Given the description of an element on the screen output the (x, y) to click on. 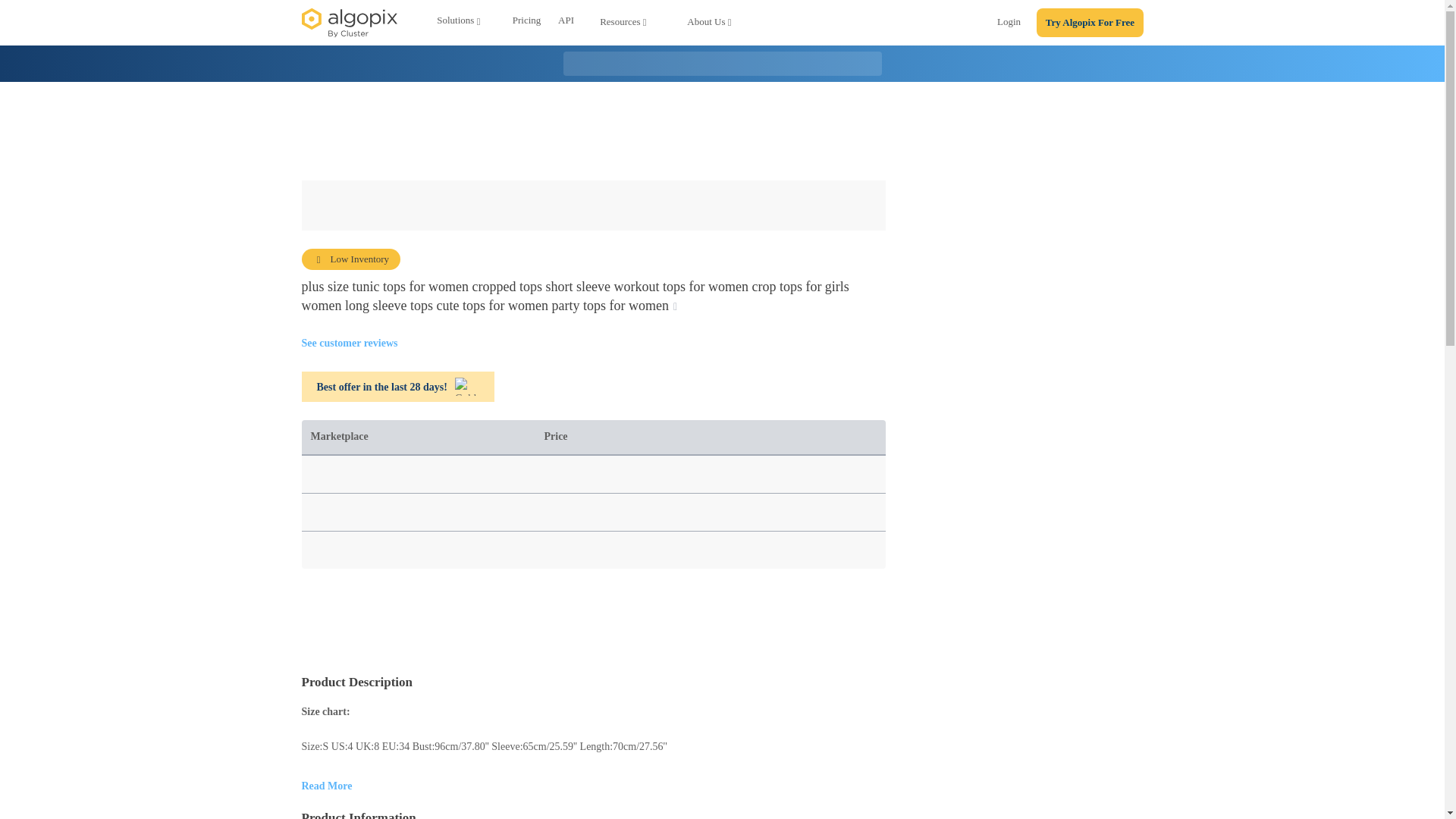
Pricing (525, 22)
Try Algopix For Free (1089, 22)
Login (1008, 24)
See customer reviews (349, 342)
Advertisement (593, 621)
API (566, 22)
Advertisement (722, 131)
